Given the description of an element on the screen output the (x, y) to click on. 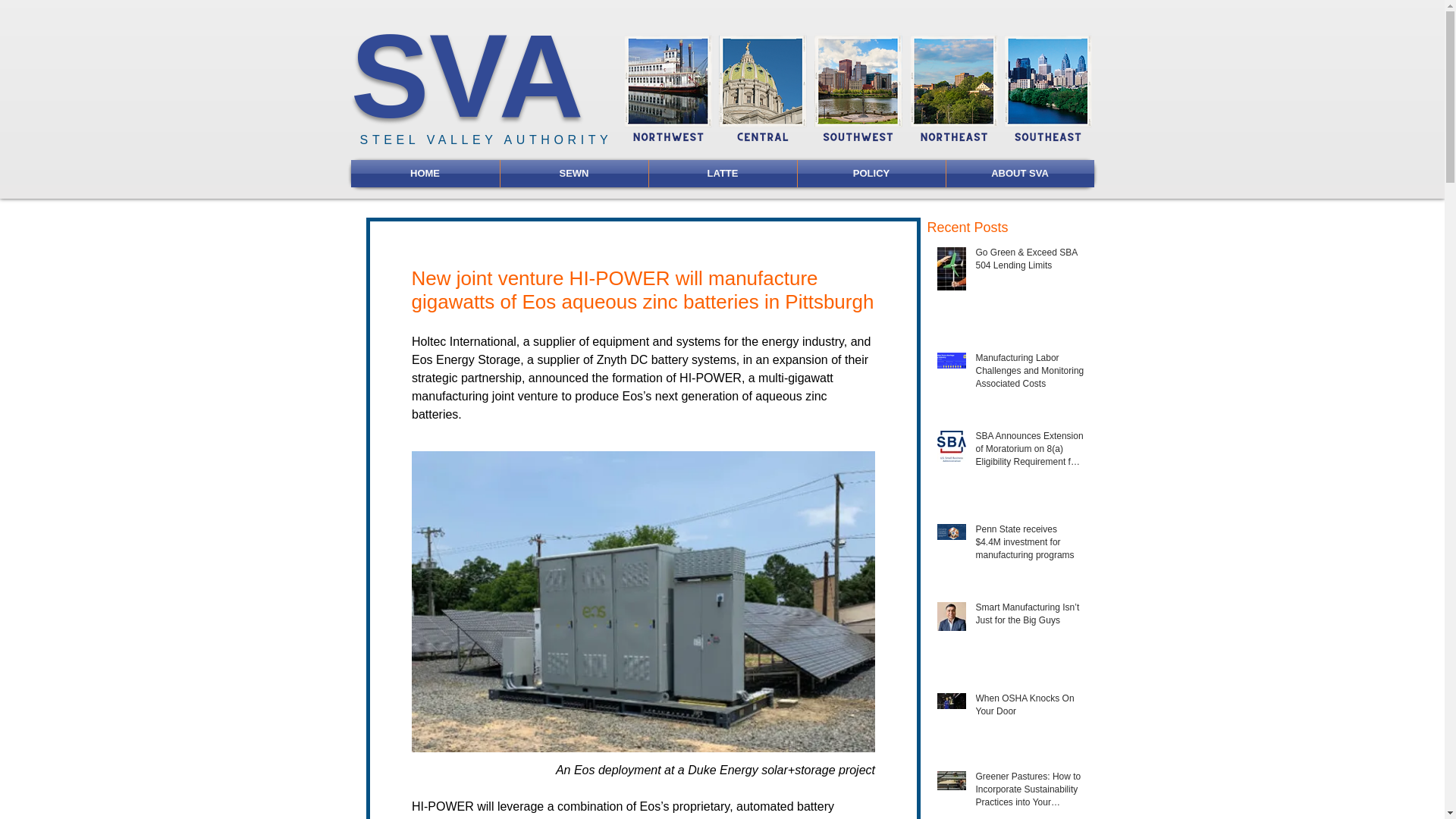
POLICY (870, 173)
HOME (424, 173)
SEWN (573, 173)
When OSHA Knocks On Your Door (1029, 707)
ABOUT SVA (1020, 173)
LATTE (722, 173)
